Given the description of an element on the screen output the (x, y) to click on. 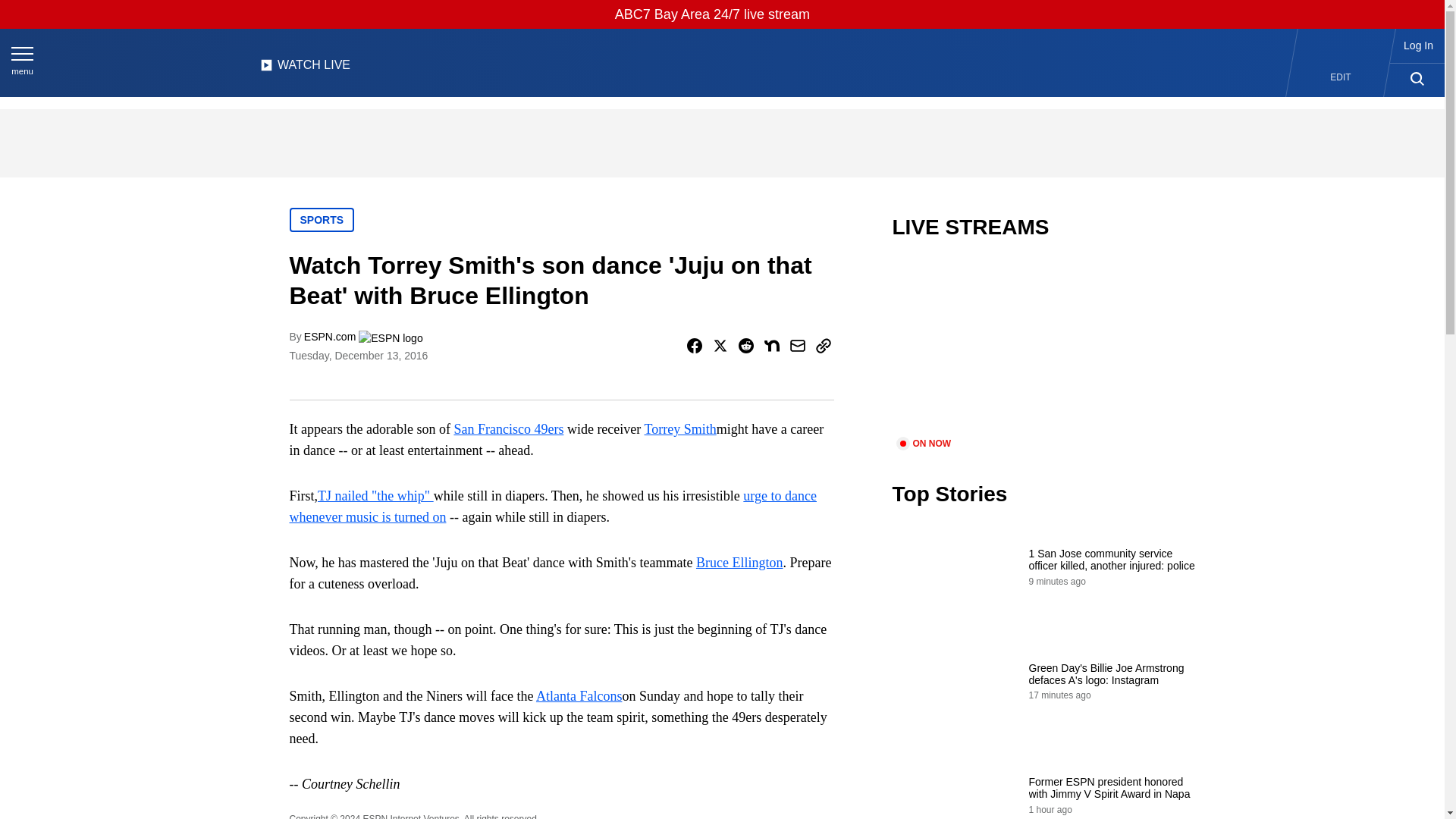
WATCH LIVE (305, 69)
EDIT (1340, 77)
video.title (1043, 347)
